Given the description of an element on the screen output the (x, y) to click on. 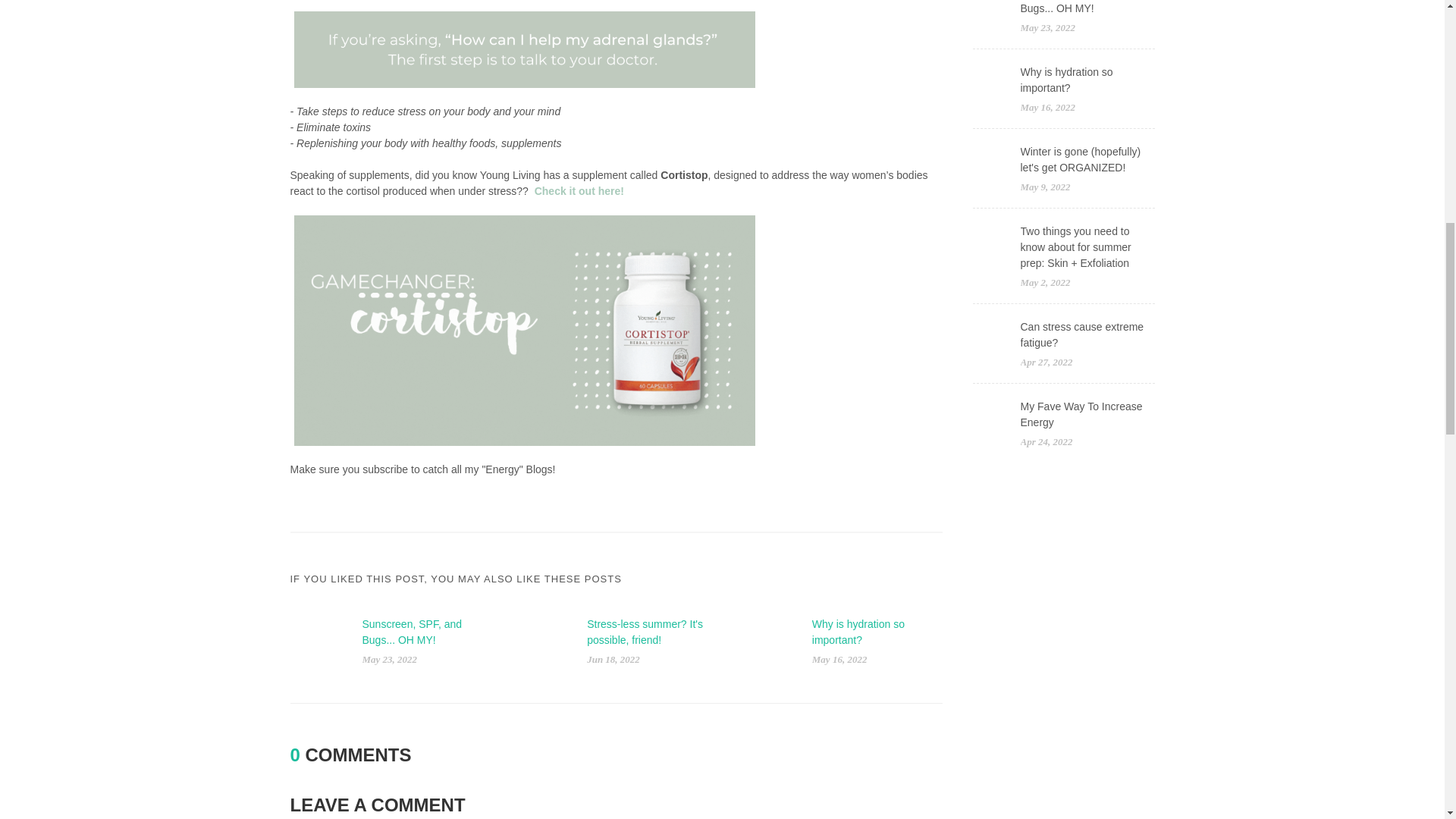
Sunscreen, SPF, and Bugs... OH MY! (412, 632)
May 16, 2022 (839, 659)
Jun 18, 2022 (613, 659)
Check it out here! (579, 191)
Why is hydration so important? (858, 632)
May 23, 2022 (389, 659)
Stress-less summer? It's possible, friend! (644, 632)
